Given the description of an element on the screen output the (x, y) to click on. 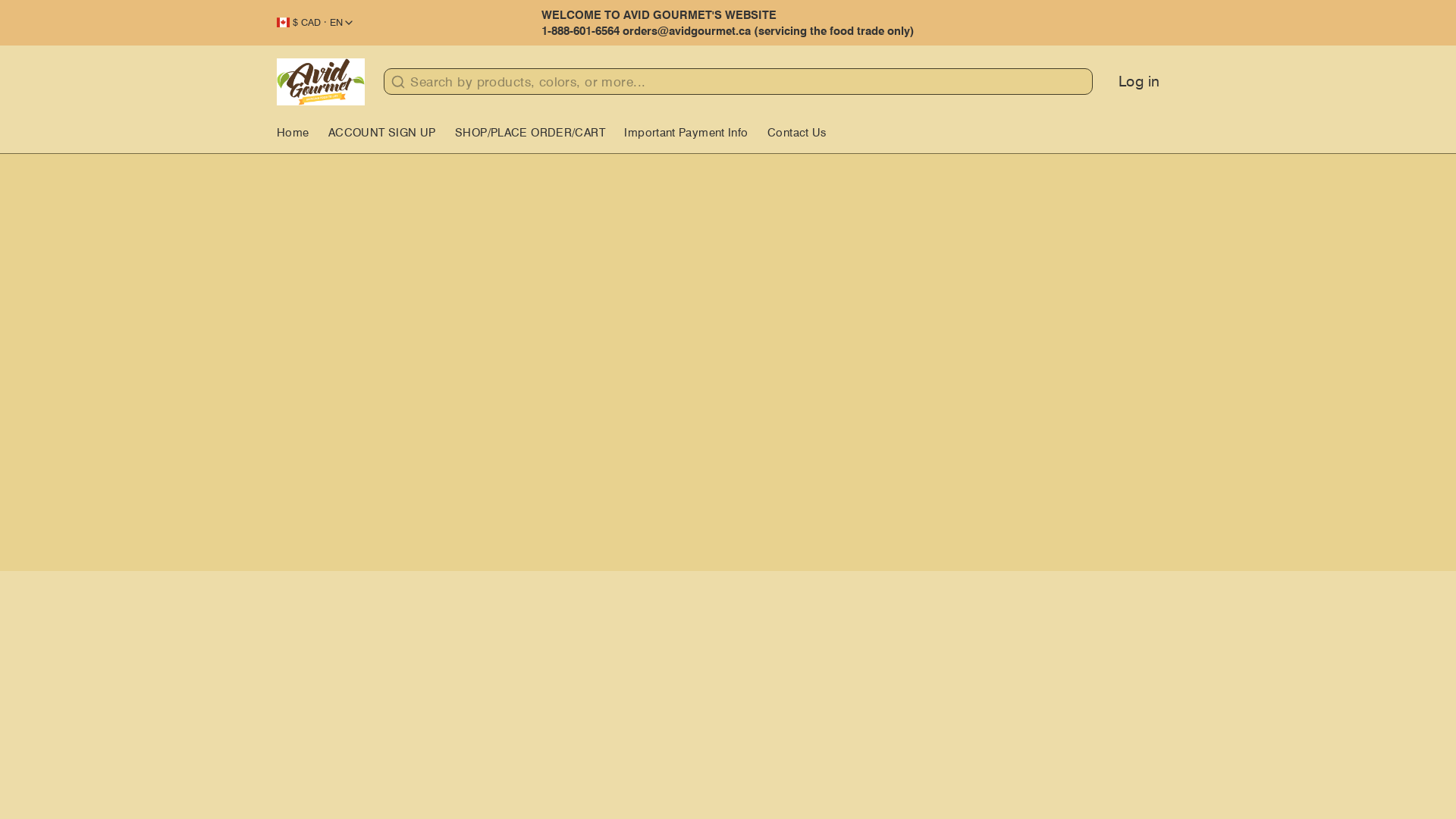
Log in Element type: text (1132, 81)
Avid Gourmet  Element type: hover (320, 80)
Contact Us Element type: text (803, 135)
ACCOUNT SIGN UP Element type: text (388, 135)
SHOP/PLACE ORDER/CART Element type: text (536, 135)
Important Payment Info Element type: text (692, 135)
Home Element type: text (299, 135)
